Given the description of an element on the screen output the (x, y) to click on. 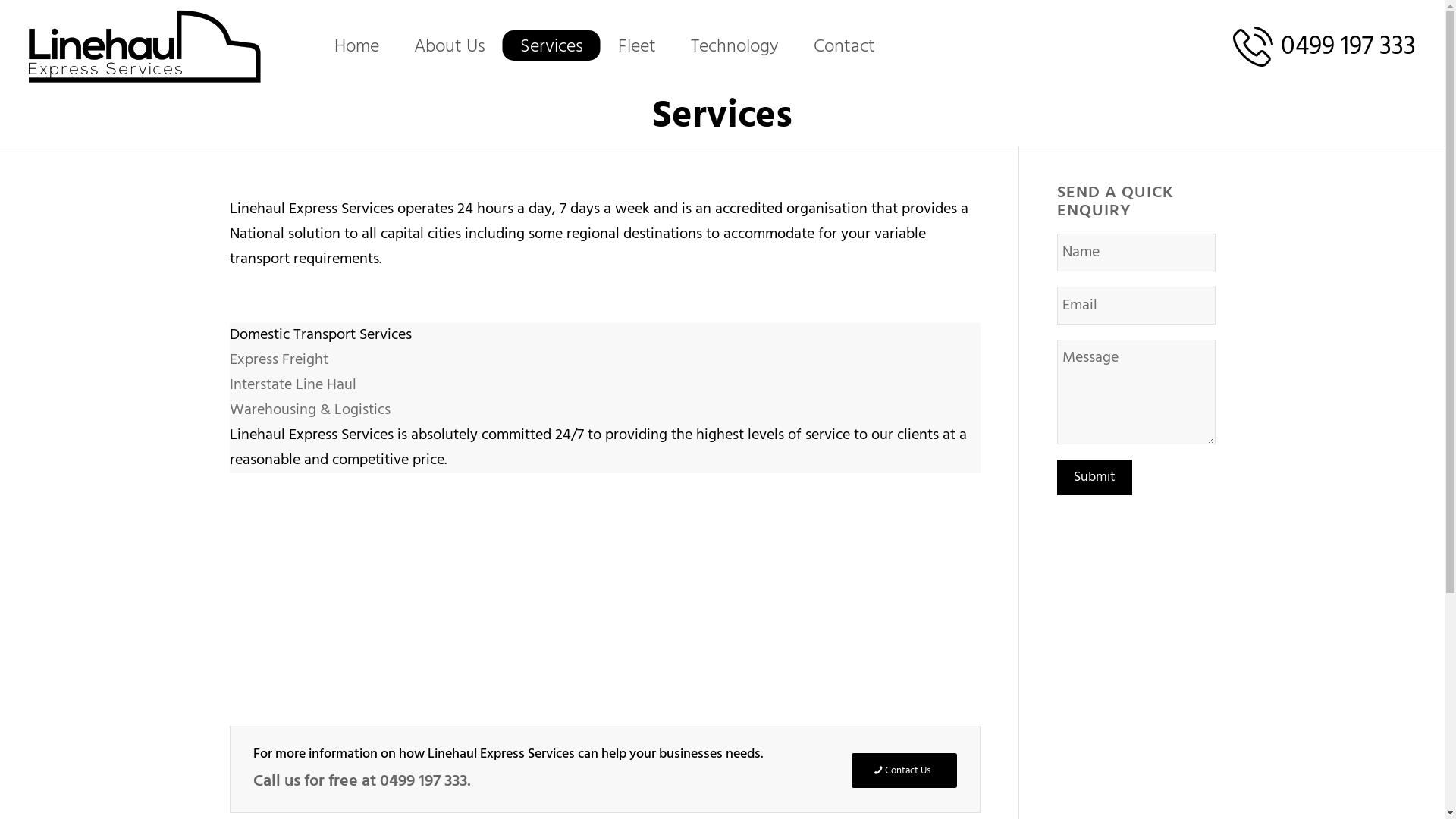
Submit Element type: text (1094, 477)
Contact Element type: text (844, 47)
About Us Element type: text (449, 47)
Services Element type: text (551, 47)
Fleet Element type: text (636, 47)
Technology Element type: text (734, 47)
Contact Us Element type: text (903, 770)
Home Element type: text (356, 47)
Services Element type: text (722, 116)
